Given the description of an element on the screen output the (x, y) to click on. 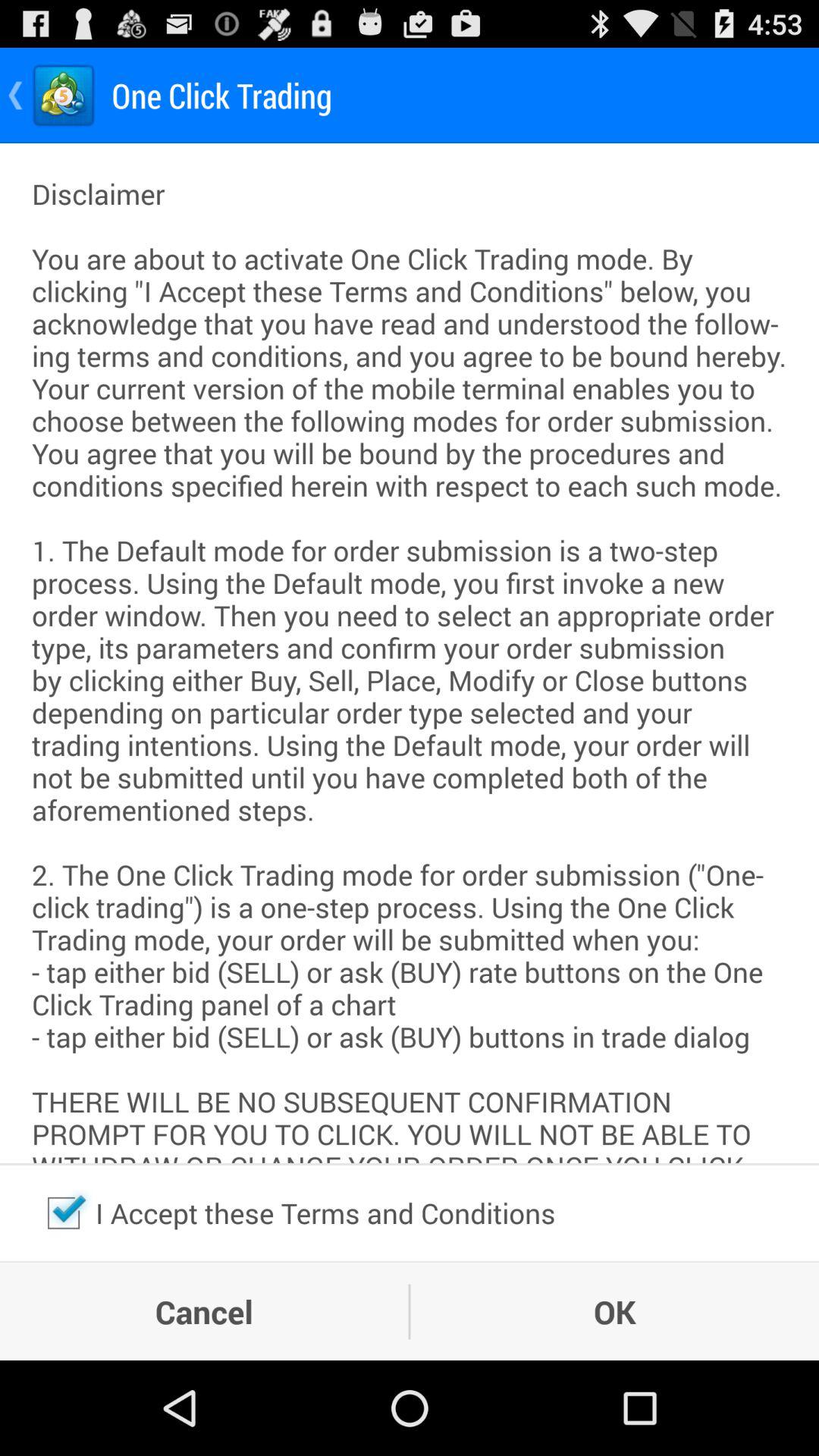
tap item below i accept these icon (614, 1311)
